Given the description of an element on the screen output the (x, y) to click on. 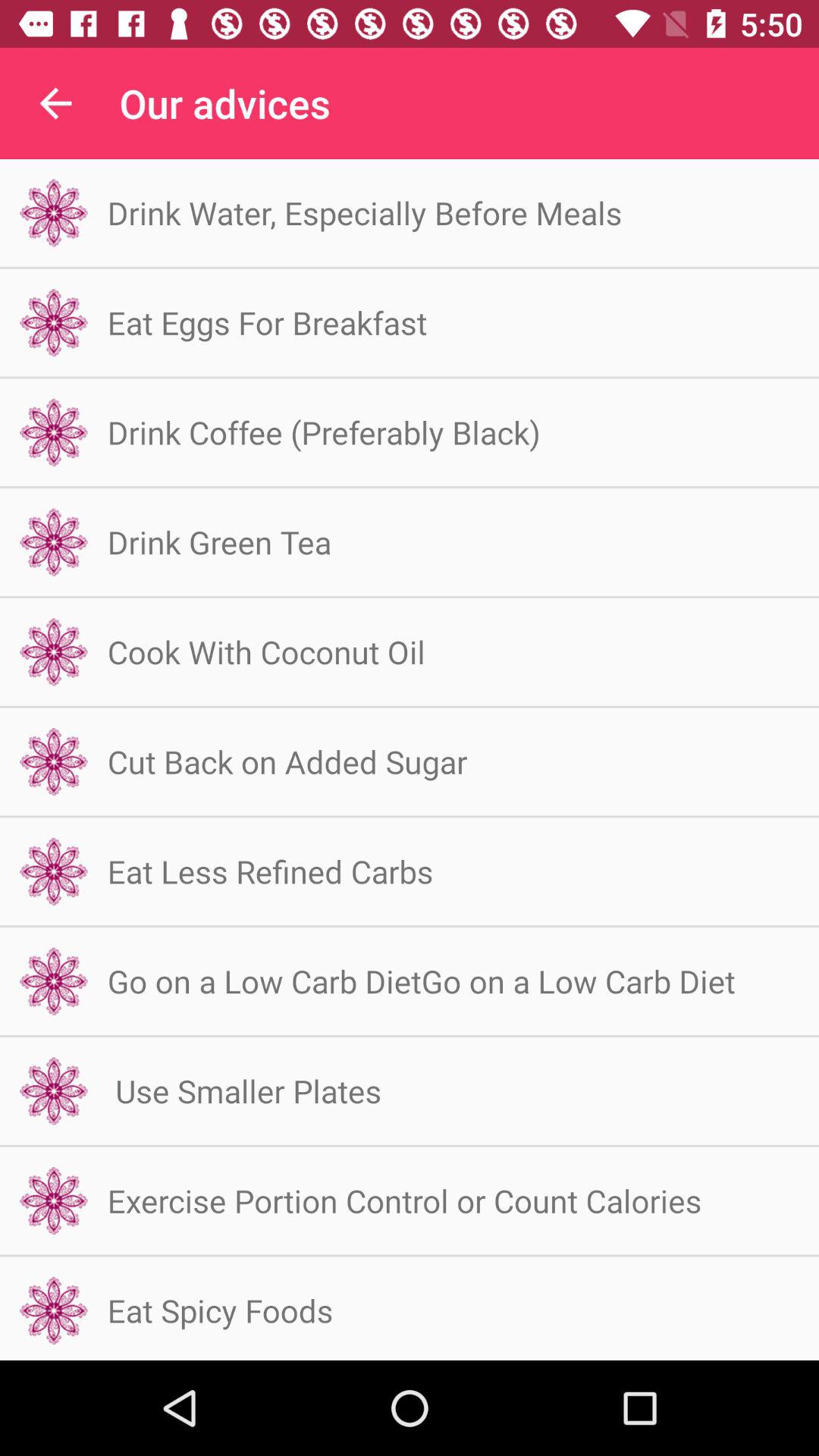
turn on the icon above cut back on icon (266, 651)
